Given the description of an element on the screen output the (x, y) to click on. 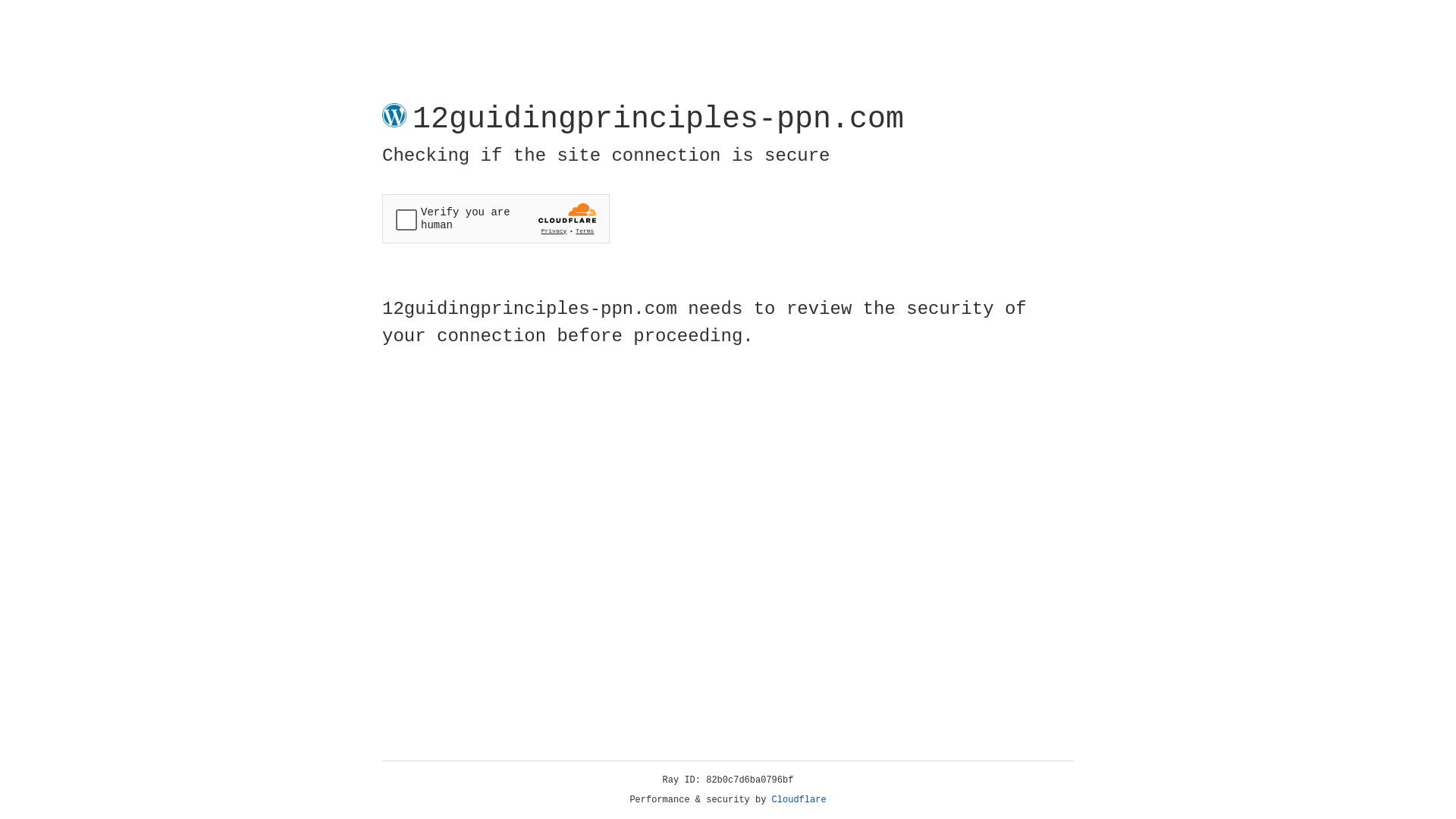
Widget containing a Cloudflare security challenge Element type: hover (495, 218)
Cloudflare Element type: text (798, 799)
